Given the description of an element on the screen output the (x, y) to click on. 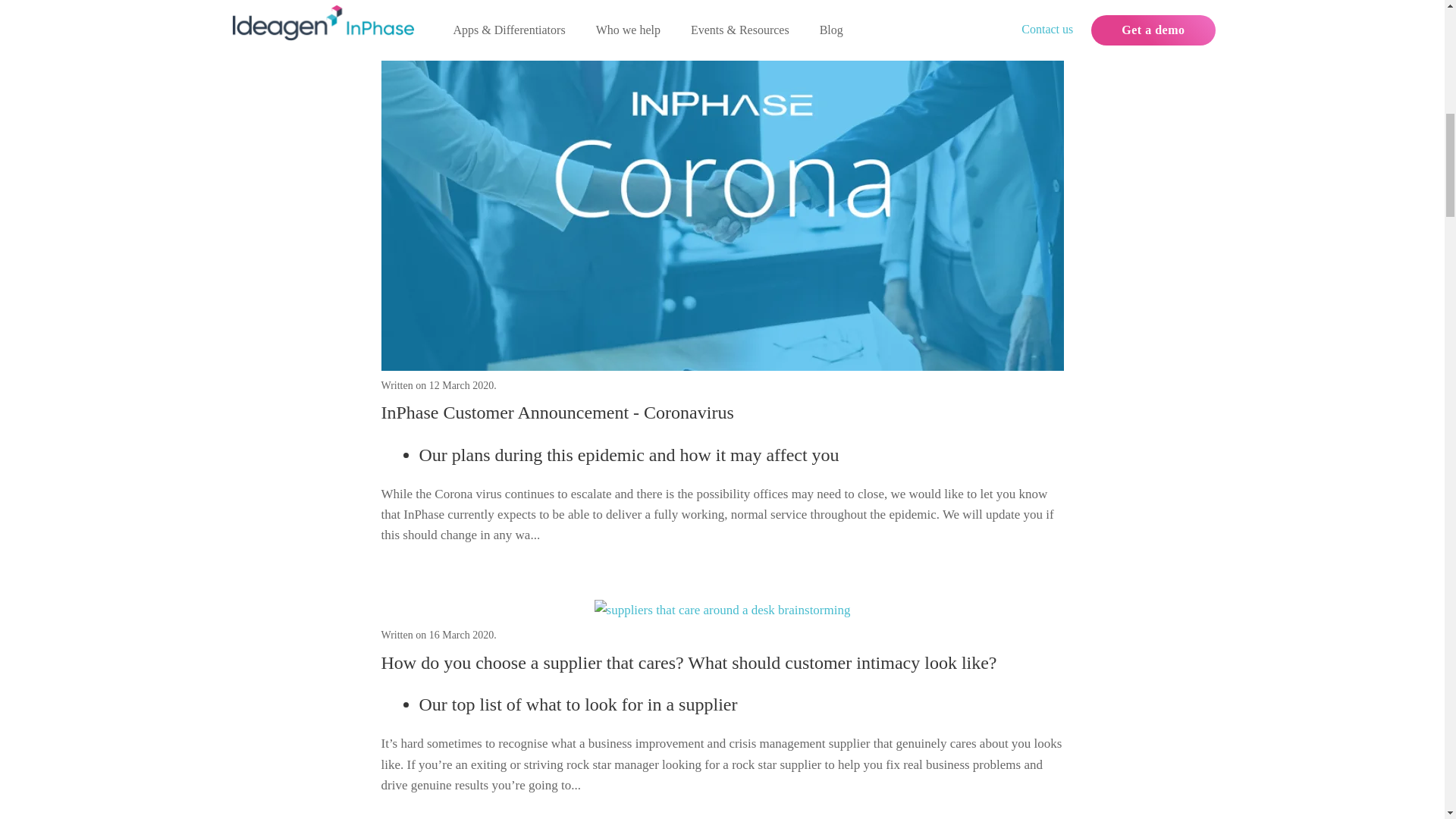
InPhase Customer Announcement - Coronavirus (556, 412)
